Given the description of an element on the screen output the (x, y) to click on. 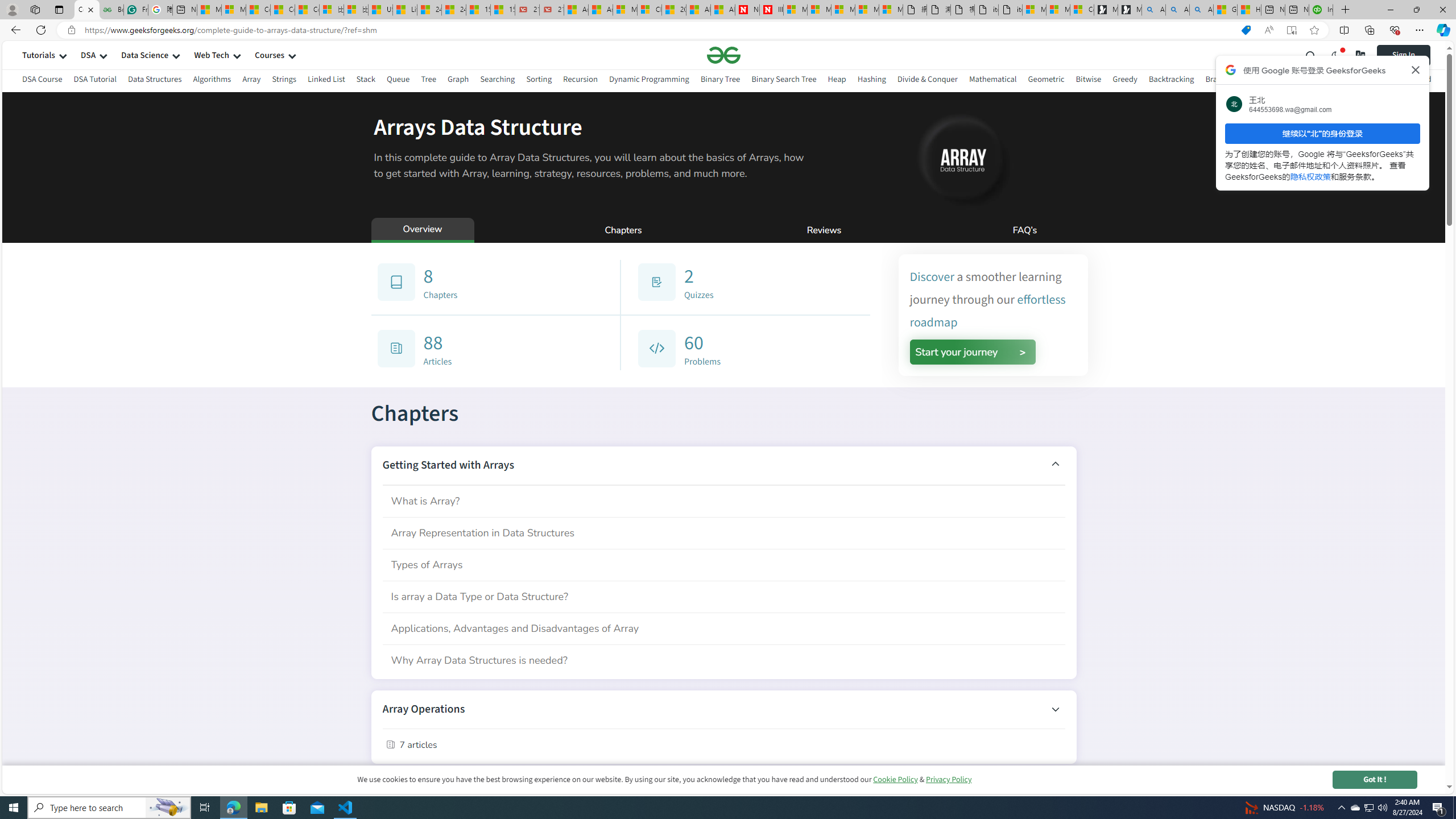
DSA Tutorial (94, 80)
Queue (398, 79)
Stack (365, 80)
Start your journey > (972, 351)
Backtracking (1170, 79)
search (1311, 54)
Branch and Bound (1237, 80)
Hashing (871, 80)
